Given the description of an element on the screen output the (x, y) to click on. 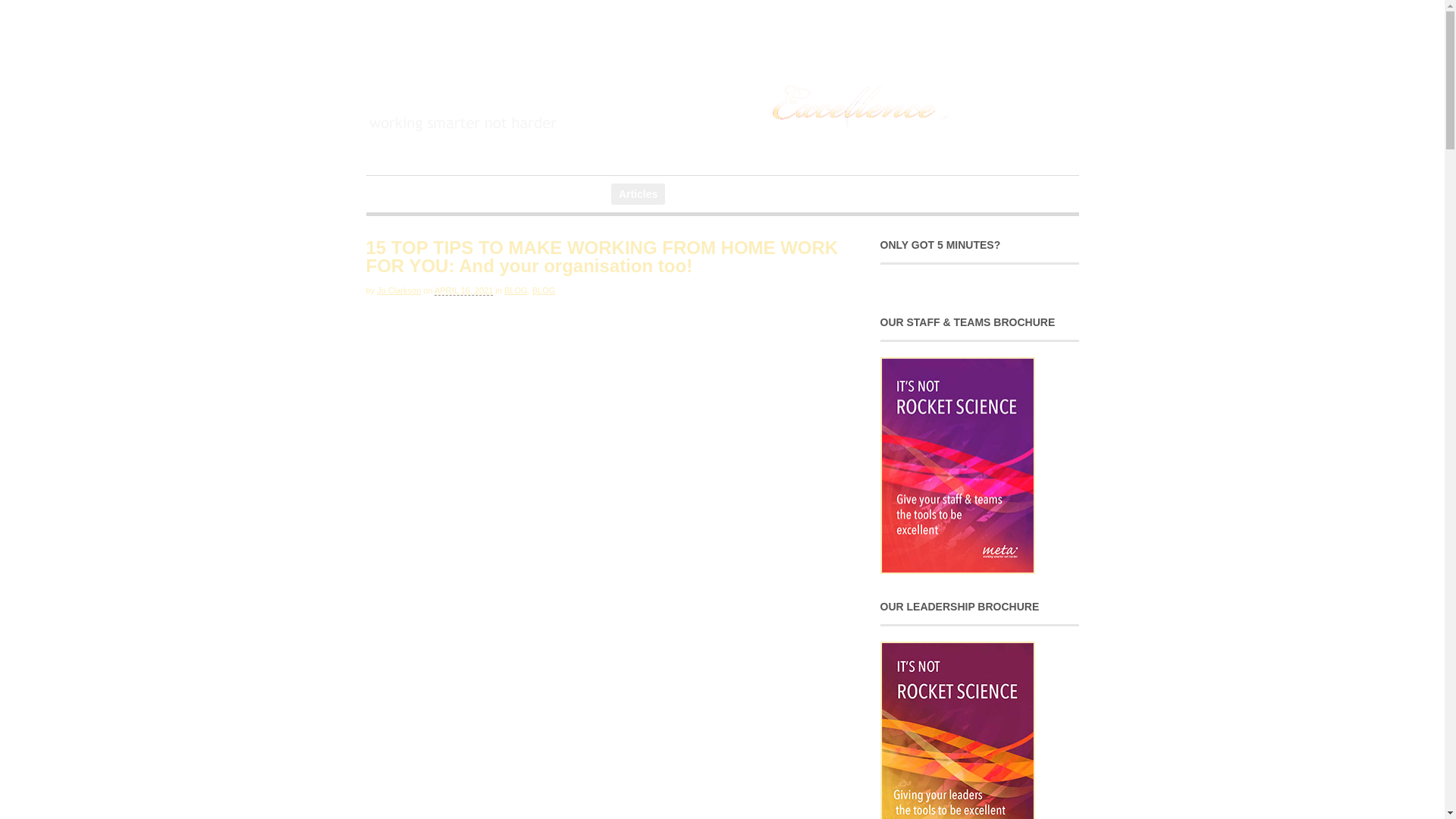
Articles (638, 193)
What we do (453, 193)
Posts by Jo Clarkson (398, 289)
BLOG (544, 289)
Books (689, 193)
Contact us (748, 193)
BLOG (515, 289)
Events (585, 193)
Meta Privacy Policy (839, 193)
News (394, 193)
Customers (525, 193)
Jo Clarkson (398, 289)
